Given the description of an element on the screen output the (x, y) to click on. 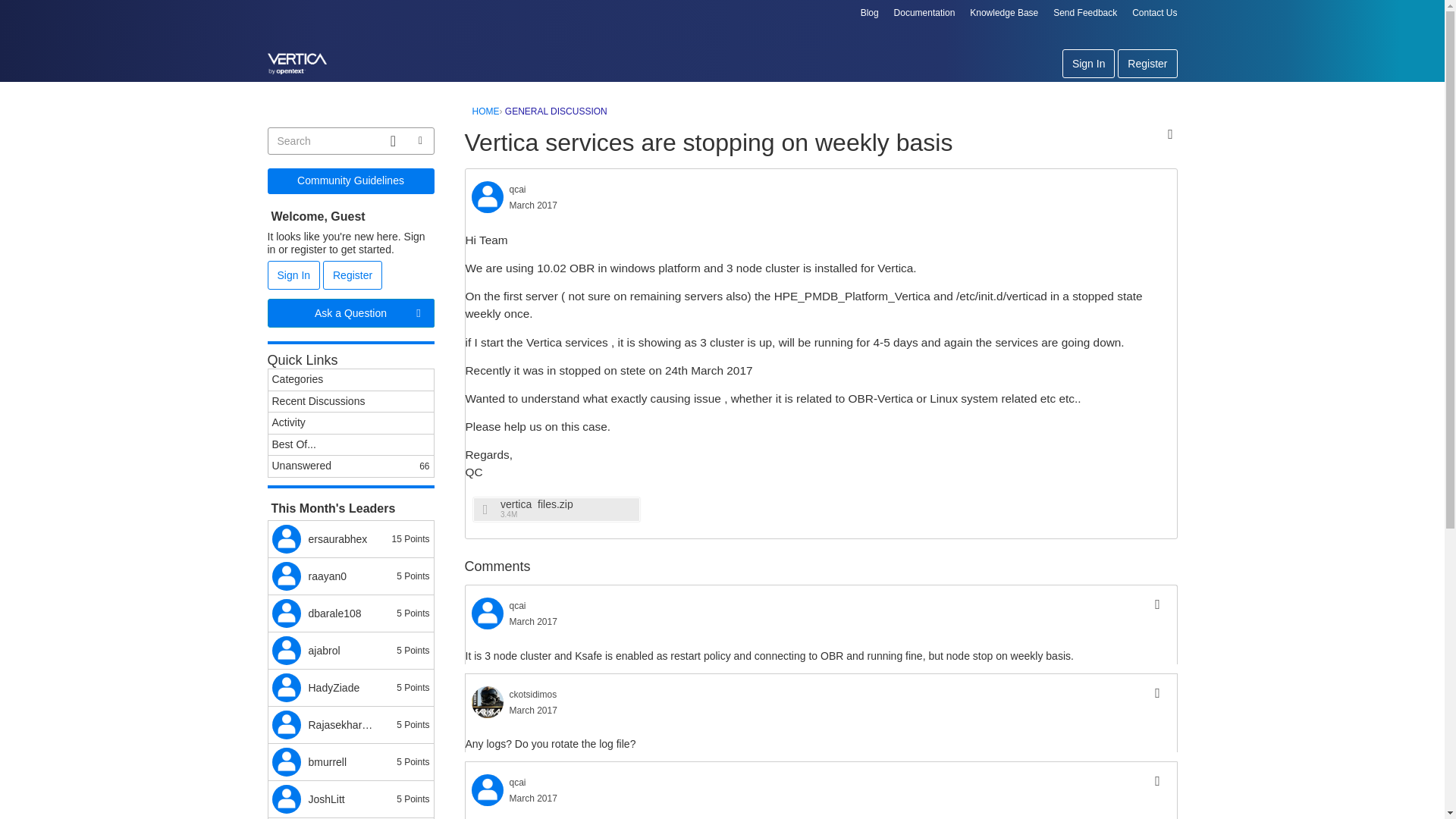
HOME (485, 111)
Sign In (1088, 63)
GENERAL DISCUSSION (556, 111)
Blog (869, 12)
qcai (487, 613)
ckotsidimos (487, 702)
Contact Us (1154, 12)
March 24, 2017 9:34AM (533, 204)
March 2017 (533, 621)
March 27, 2017 4:49AM (533, 798)
ckotsidimos (533, 694)
qcai (517, 189)
qcai (487, 196)
March 24, 2017 12:27PM (533, 710)
